Given the description of an element on the screen output the (x, y) to click on. 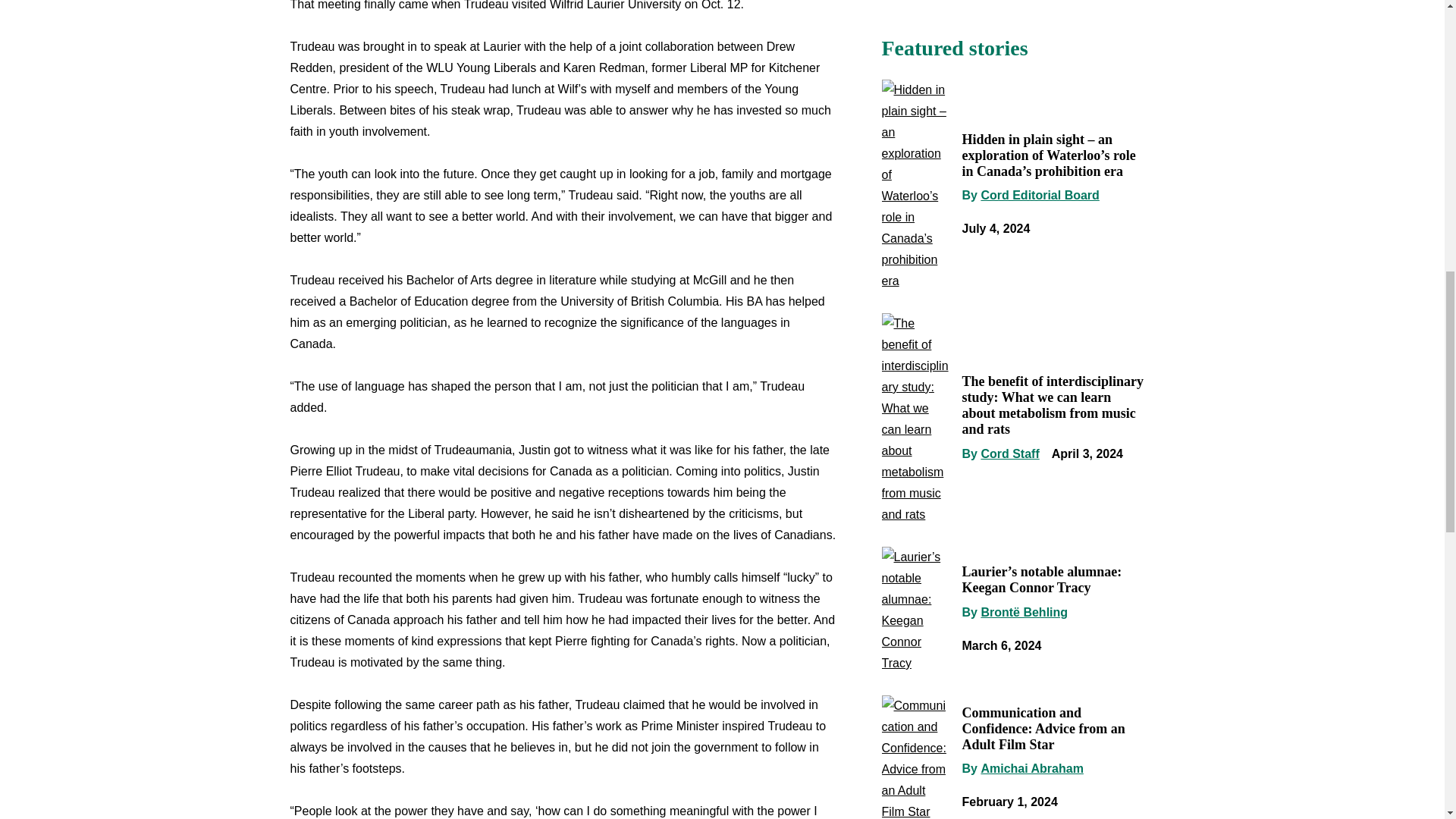
Posts by Cord Editorial Board (1039, 195)
Posts by Amichai Abraham (1031, 768)
Posts by Cord Staff (1009, 453)
